Given the description of an element on the screen output the (x, y) to click on. 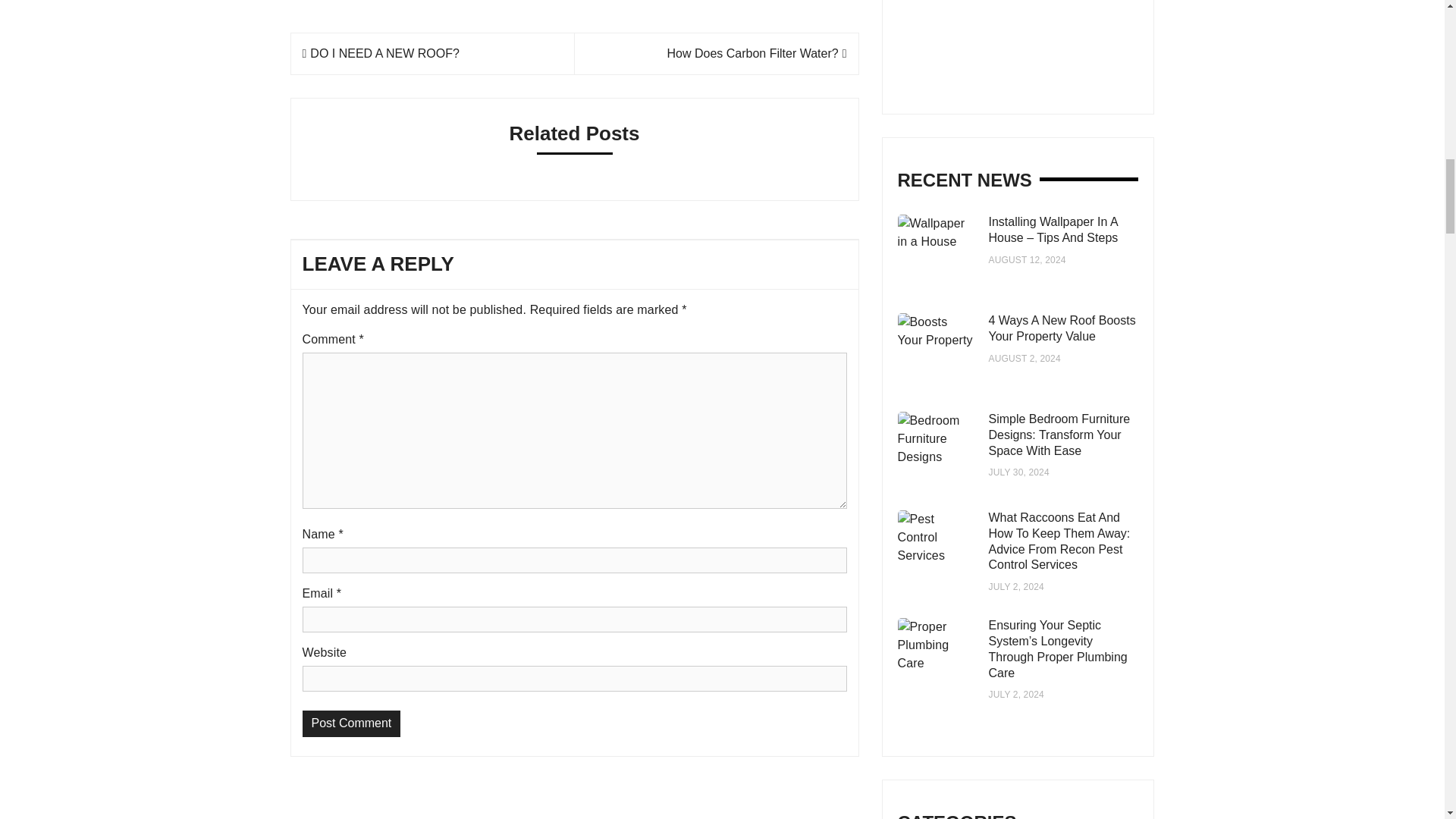
Advertisement (1025, 38)
How Does Carbon Filter Water? (756, 52)
Post Comment (350, 723)
DO I NEED A NEW ROOF? (379, 52)
